Given the description of an element on the screen output the (x, y) to click on. 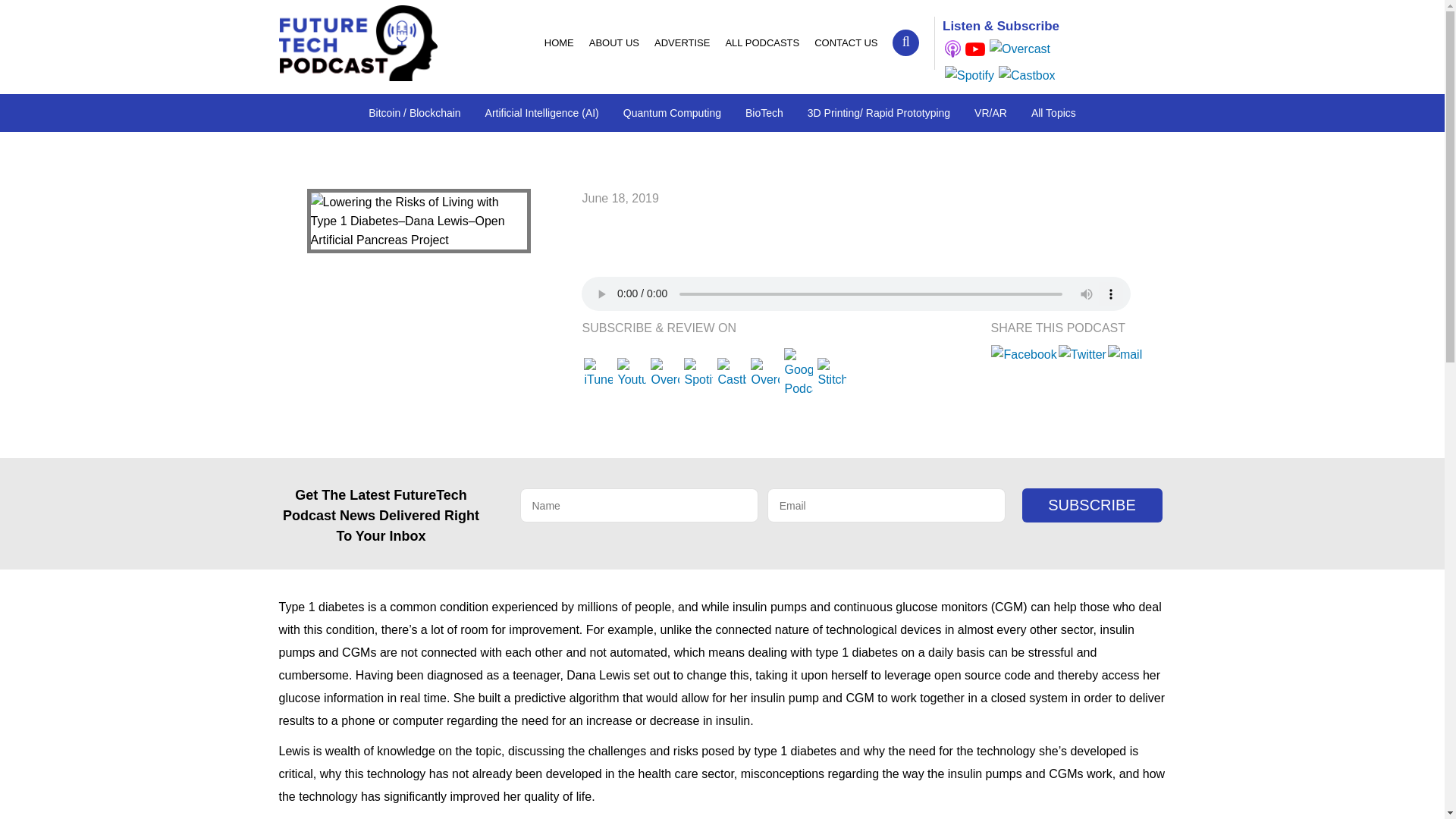
ALL PODCASTS (761, 42)
ABOUT US (613, 42)
CONTACT US (845, 42)
Subscribe (1091, 505)
Contact Us (845, 42)
All Podcasts (761, 42)
About Us (613, 42)
iTunes (952, 47)
FutureTech Podcast (358, 42)
BioTech (763, 112)
